Given the description of an element on the screen output the (x, y) to click on. 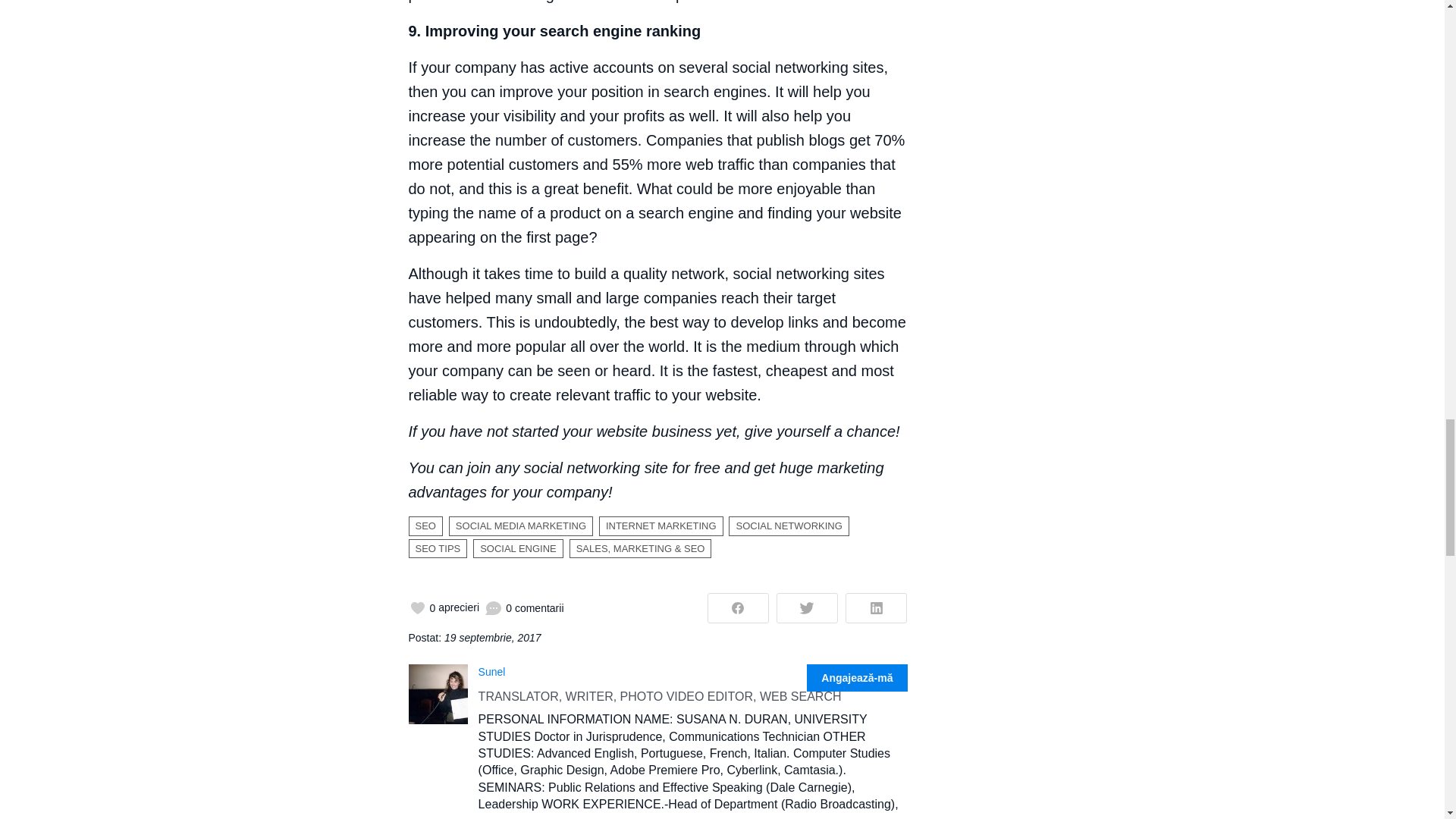
SOCIAL NETWORKING (788, 526)
SOCIAL ENGINE (518, 547)
Sunel (492, 671)
INTERNET MARKETING (660, 526)
Voturile utilizatorilor (443, 607)
SEO TIPS (437, 547)
SEO (424, 526)
0 comentarii (523, 607)
SOCIAL MEDIA MARKETING (520, 526)
